Given the description of an element on the screen output the (x, y) to click on. 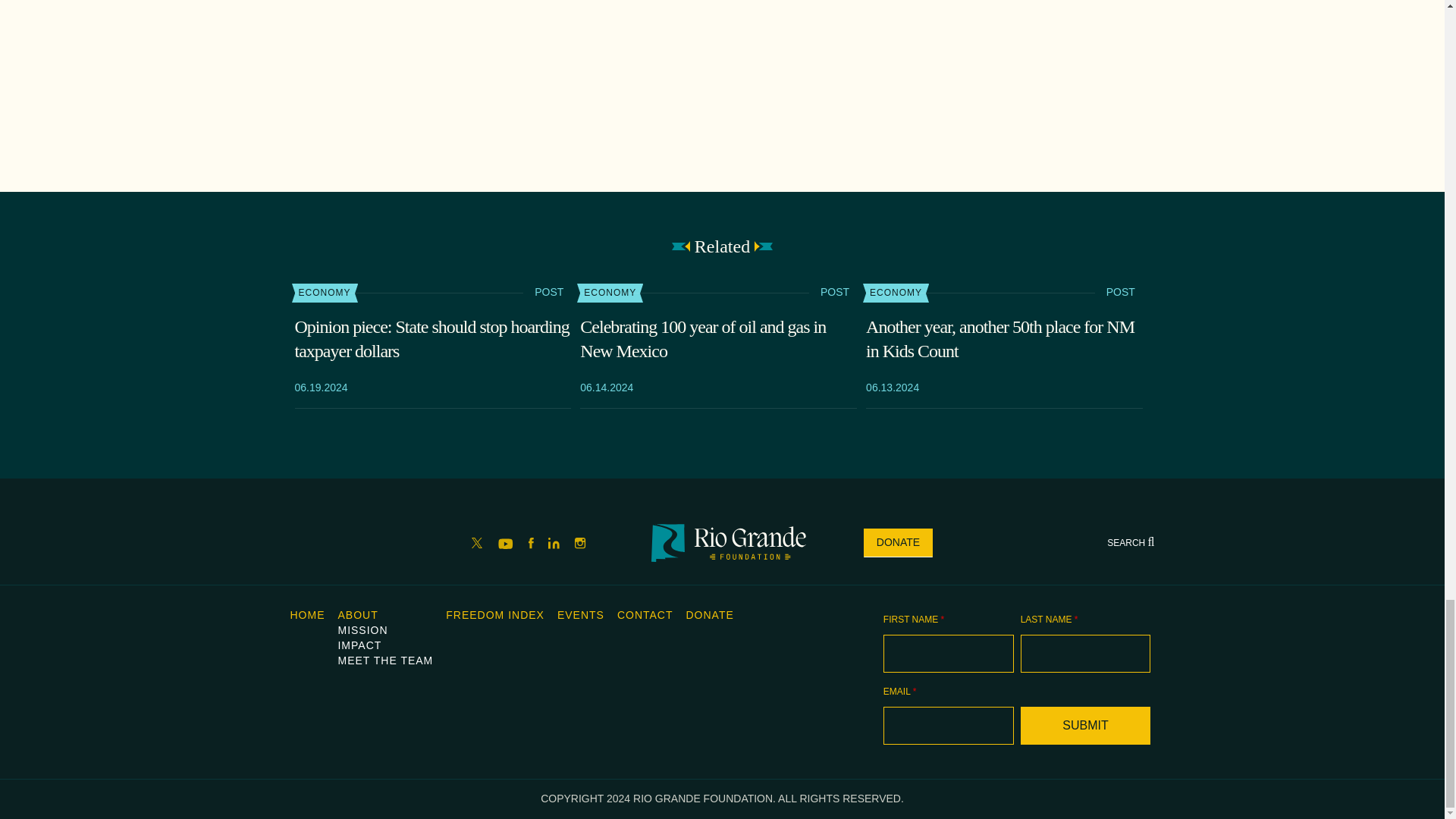
HOME (306, 614)
Another year, another 50th place for NM in Kids Count (1004, 338)
Celebrating 100 year of oil and gas in New Mexico (718, 338)
Submit (1085, 725)
IMPACT (359, 645)
DONATE (898, 542)
Opinion piece: State should stop hoarding taxpayer dollars (432, 338)
SEARCH (1130, 542)
MISSION (362, 630)
ABOUT (357, 614)
